Given the description of an element on the screen output the (x, y) to click on. 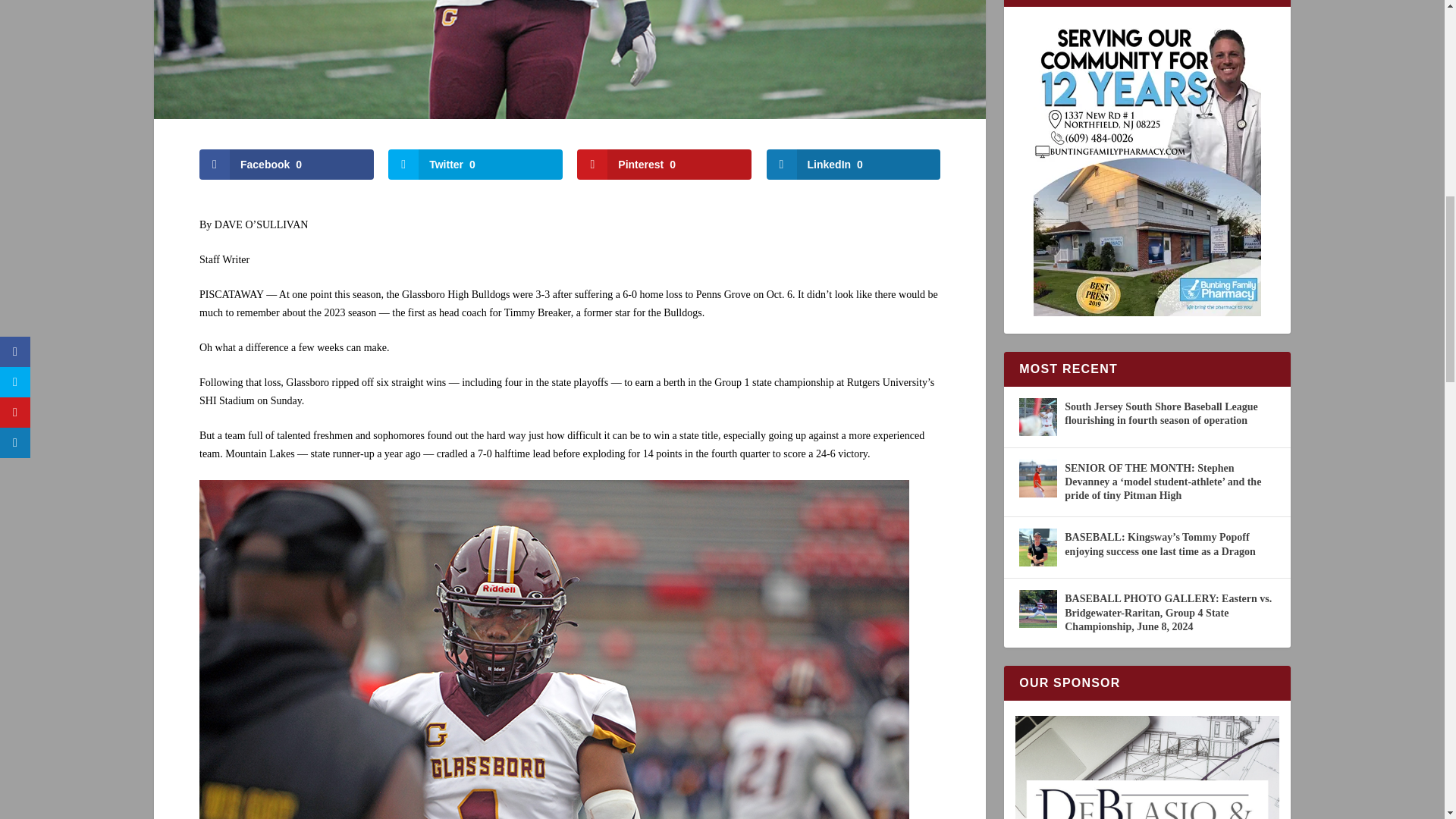
Twitter 0 (475, 164)
Pinterest 0 (663, 164)
LinkedIn 0 (853, 164)
Facebook 0 (286, 164)
